Given the description of an element on the screen output the (x, y) to click on. 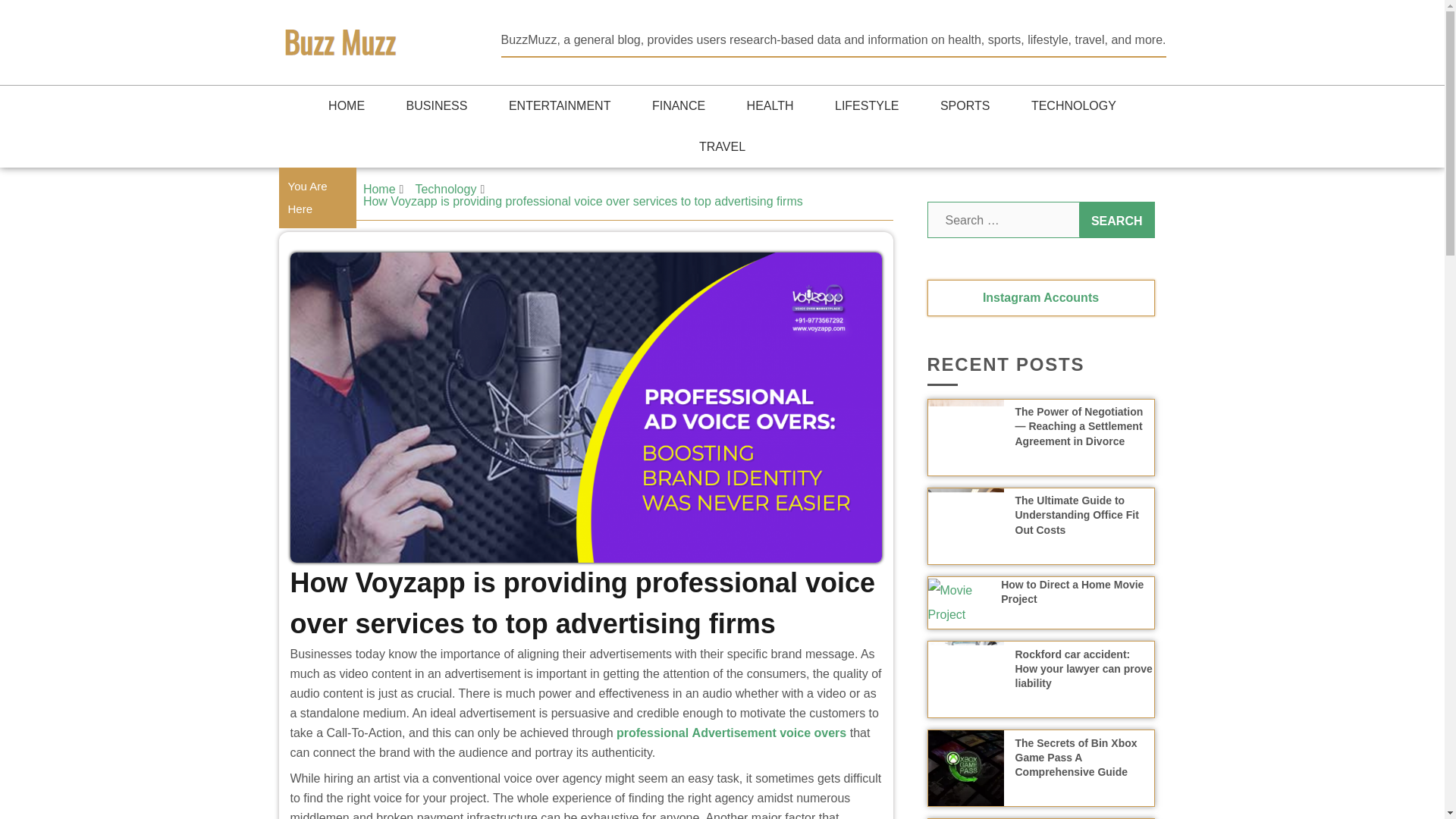
Rockford car accident: How your lawyer can prove liability (1082, 668)
Search (1116, 219)
HOME (346, 105)
TECHNOLOGY (1073, 105)
FINANCE (678, 105)
SPORTS (964, 105)
HEALTH (770, 105)
Instagram Accounts (1040, 297)
Search (1116, 219)
